Given the description of an element on the screen output the (x, y) to click on. 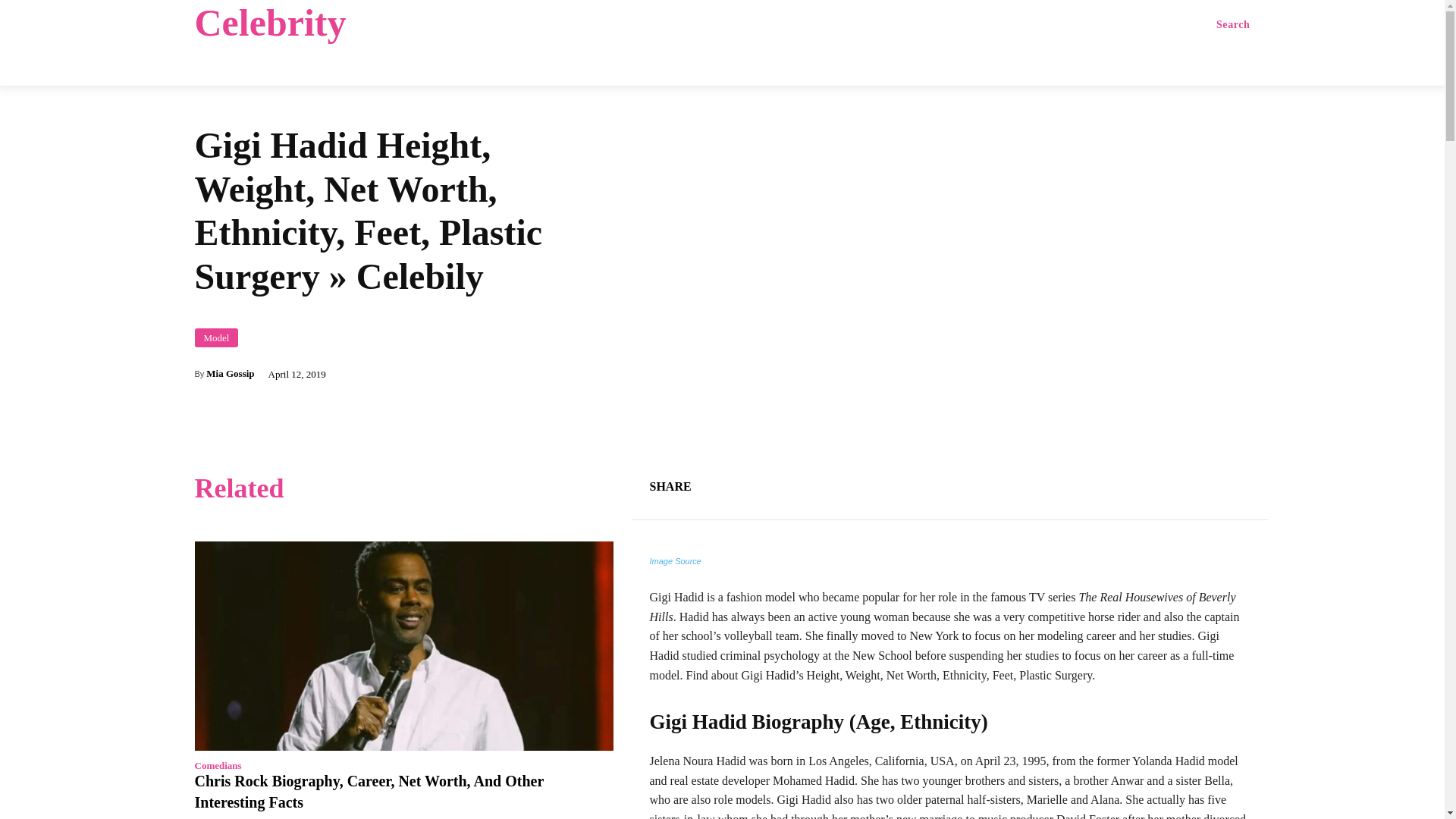
Mia Gossip (229, 373)
Search (1232, 24)
Model (215, 337)
Celebrity (311, 22)
Comedians (217, 765)
